Given the description of an element on the screen output the (x, y) to click on. 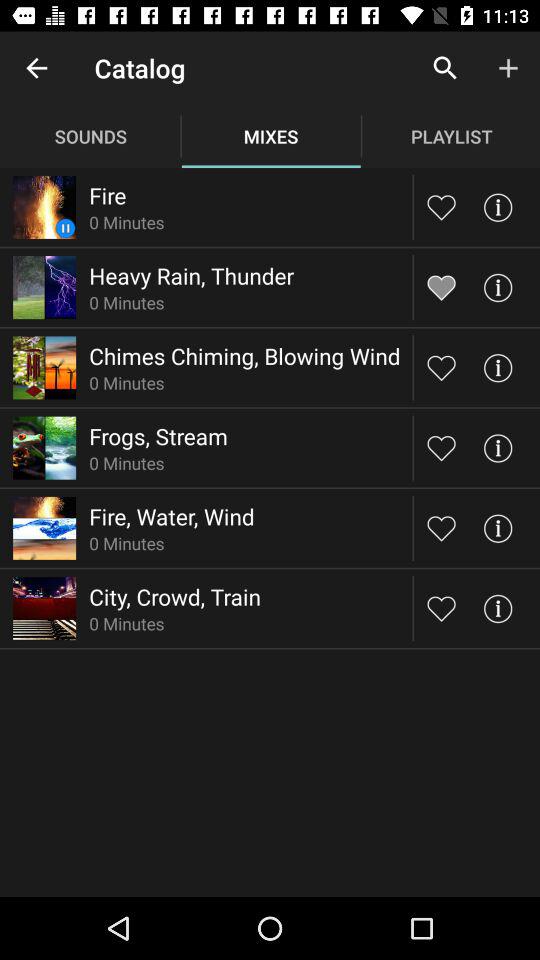
open icon to the left of catalog (36, 68)
